Given the description of an element on the screen output the (x, y) to click on. 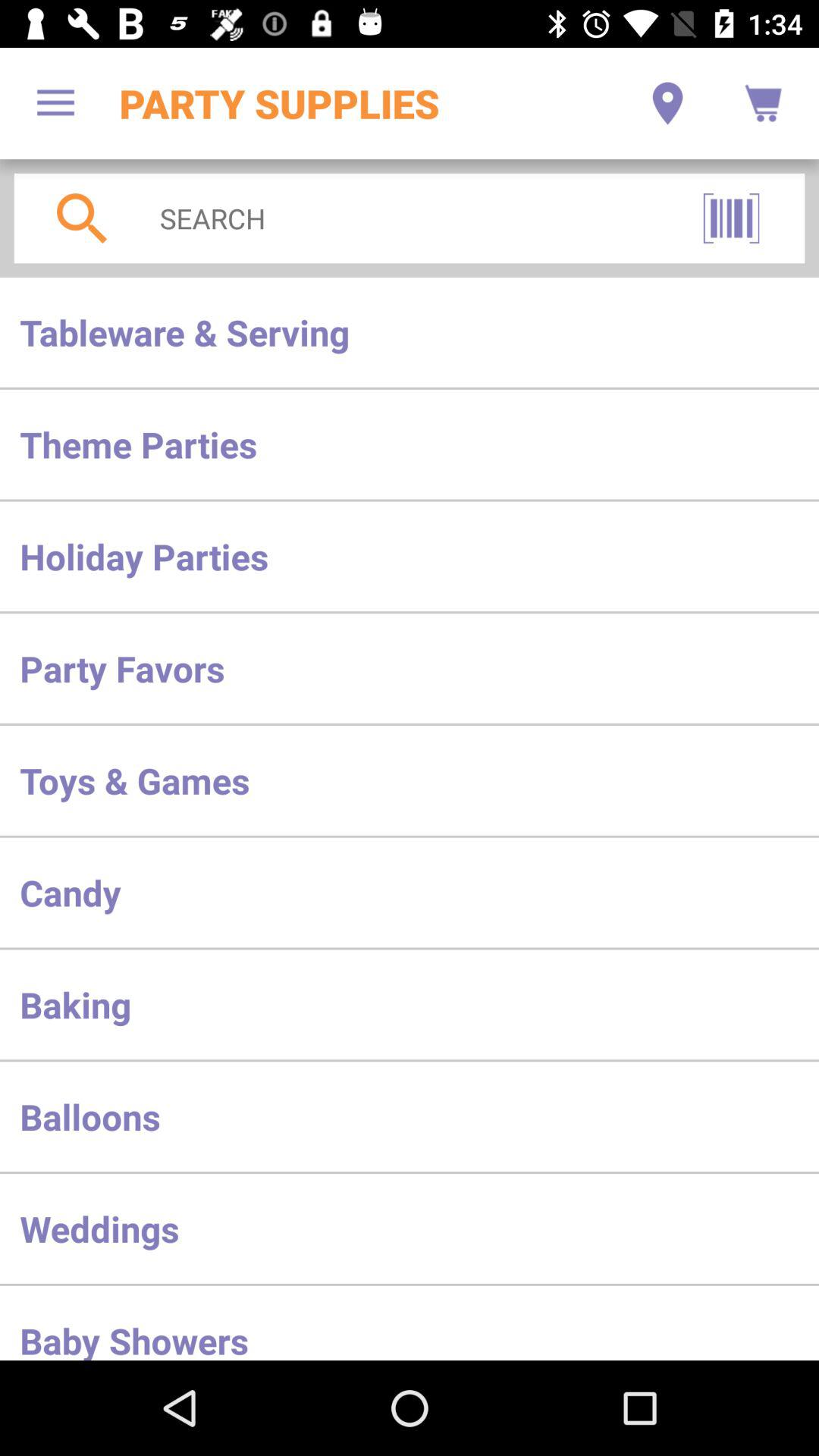
launch icon above toys & games icon (409, 668)
